Given the description of an element on the screen output the (x, y) to click on. 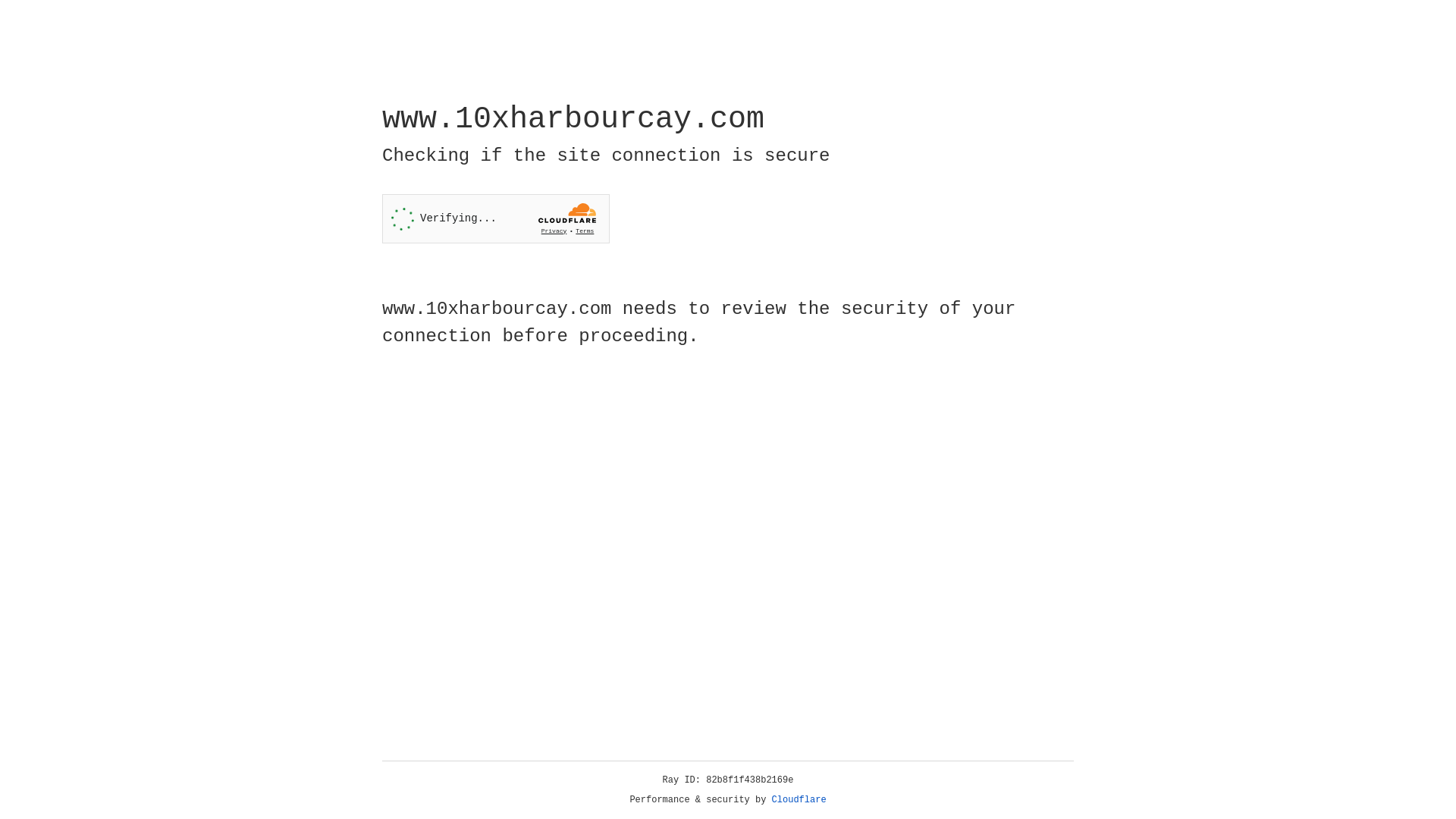
Cloudflare Element type: text (798, 799)
Widget containing a Cloudflare security challenge Element type: hover (495, 218)
